Given the description of an element on the screen output the (x, y) to click on. 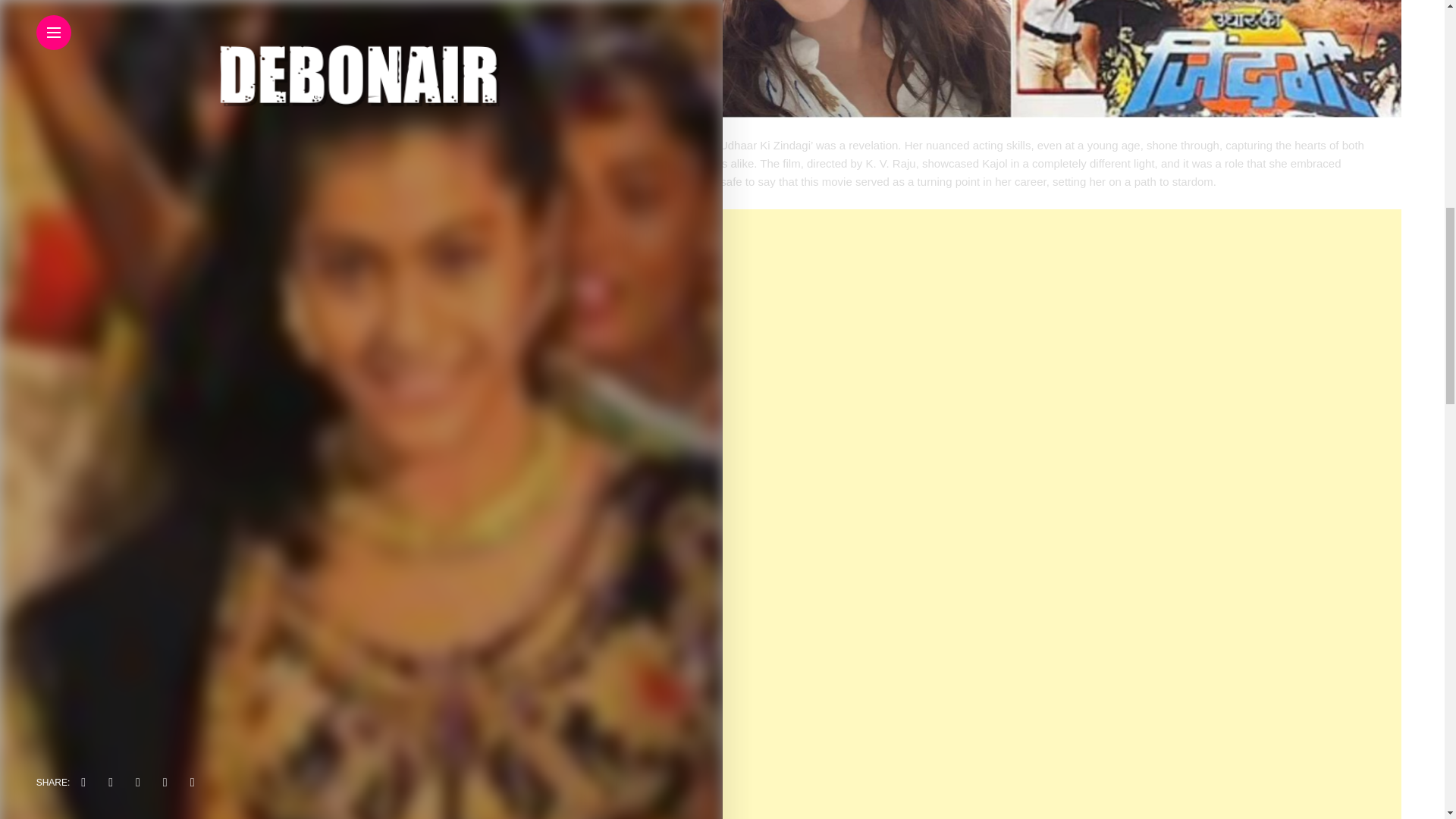
Kajol's Reflection On 29 Years Of 'Udhaar Ki Zindagi'" 1 (1010, 59)
